Given the description of an element on the screen output the (x, y) to click on. 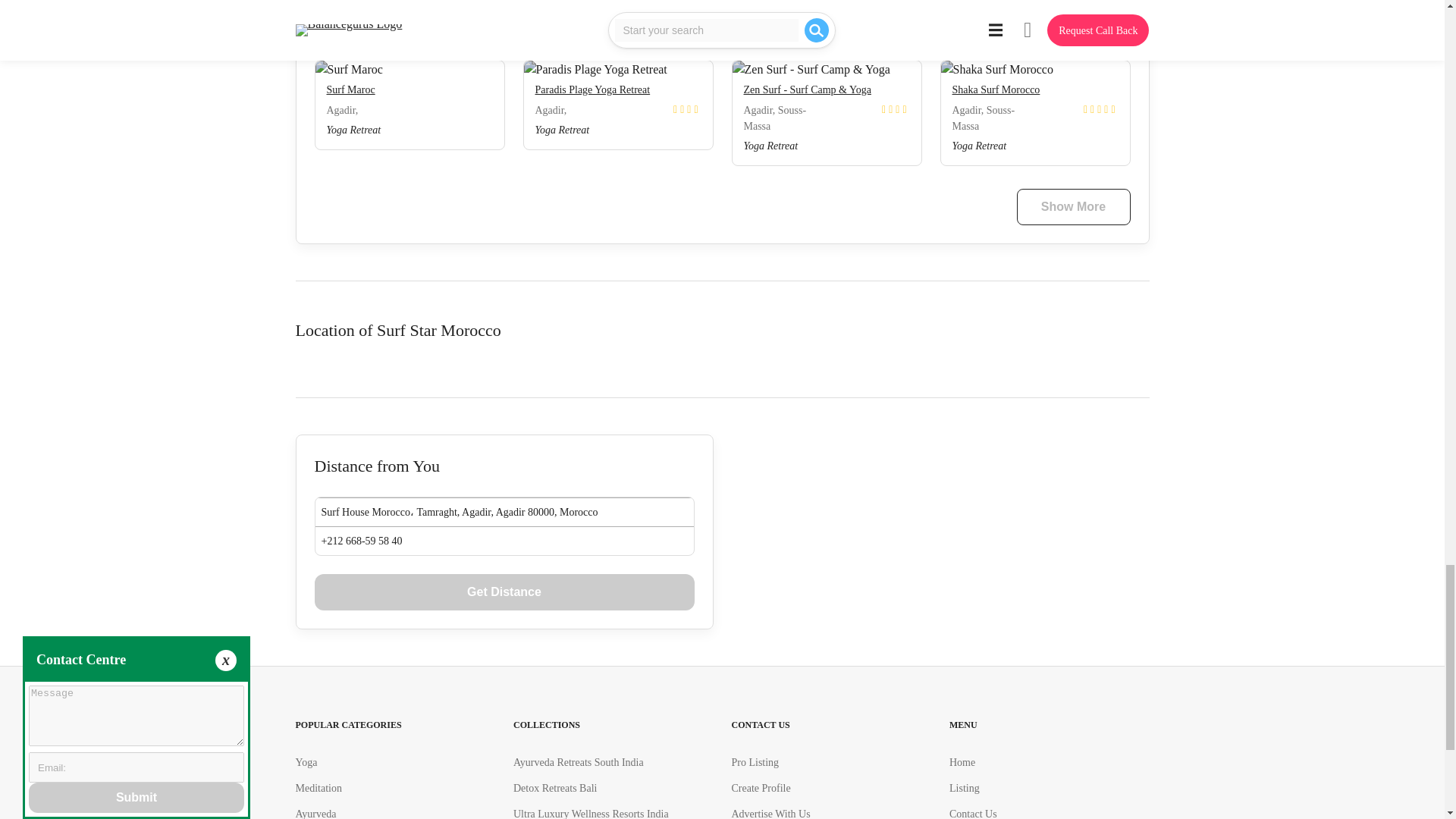
Surf Maroc (350, 89)
Show More (1072, 207)
Get Distance (504, 592)
Shaka Surf Morocco (996, 89)
Paradis Plage Yoga Retreat (592, 89)
